Given the description of an element on the screen output the (x, y) to click on. 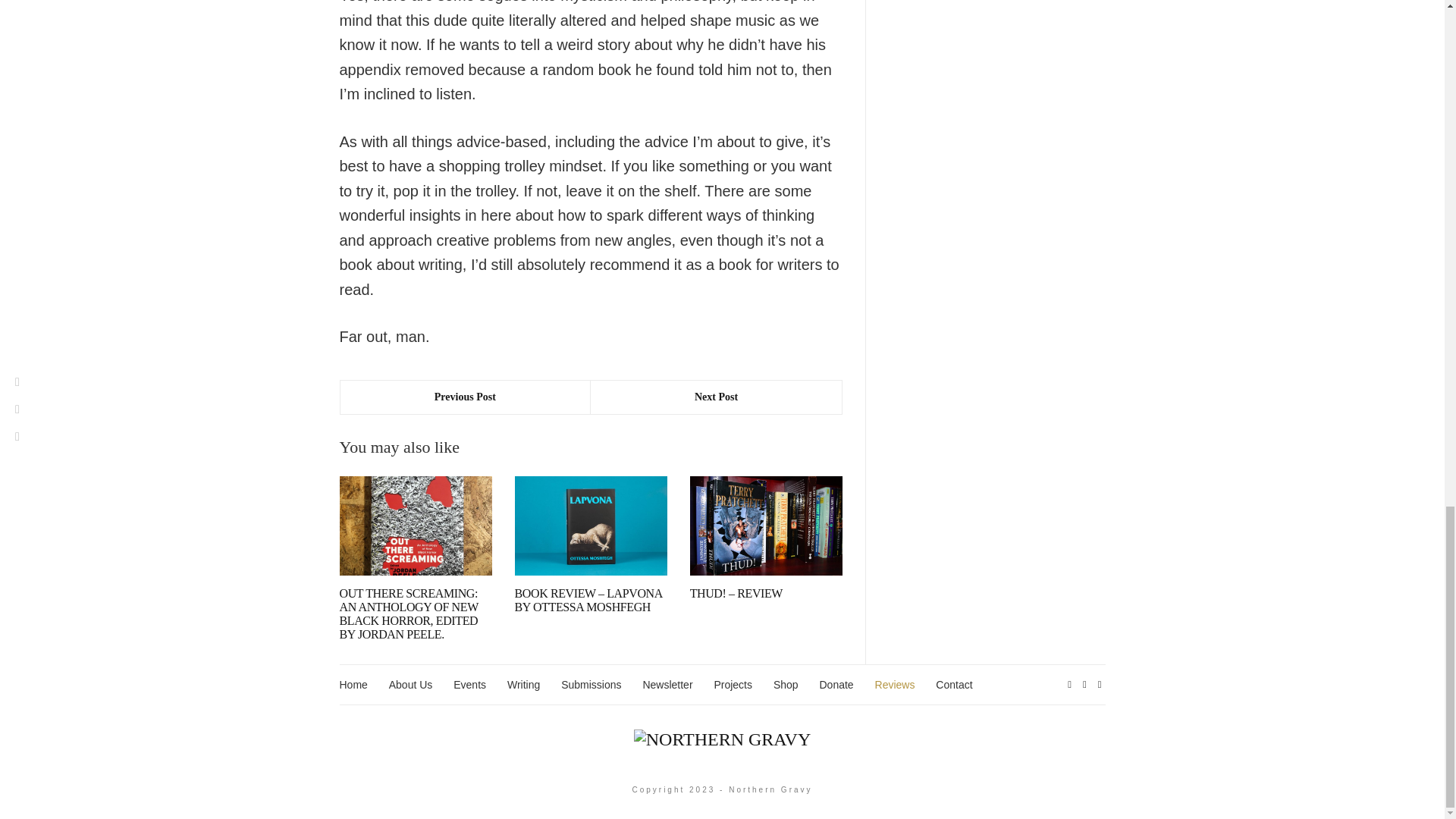
Next Post (716, 397)
Previous Post (465, 397)
